Given the description of an element on the screen output the (x, y) to click on. 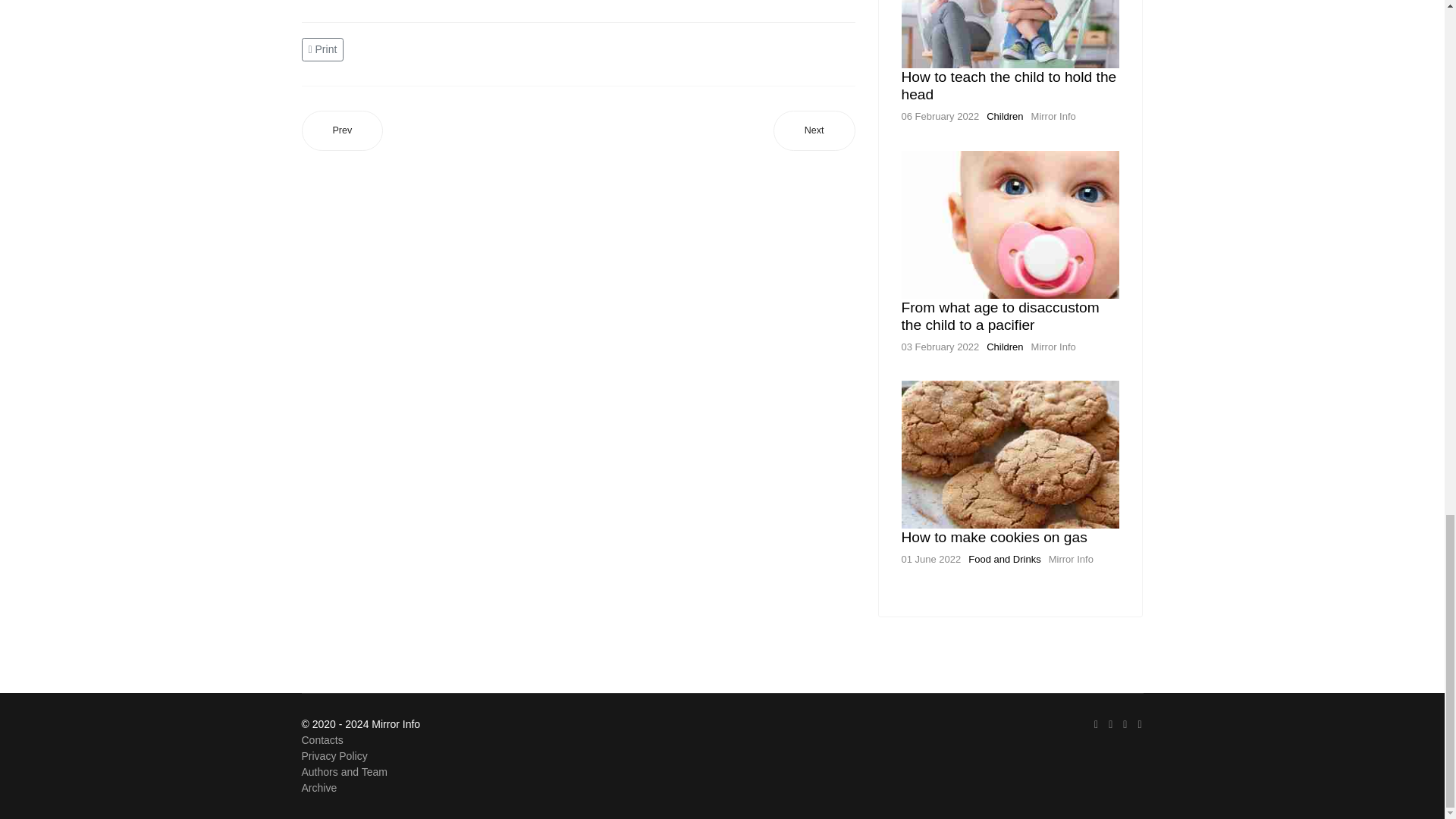
Print (324, 48)
Prev (342, 130)
Next (814, 130)
